Given the description of an element on the screen output the (x, y) to click on. 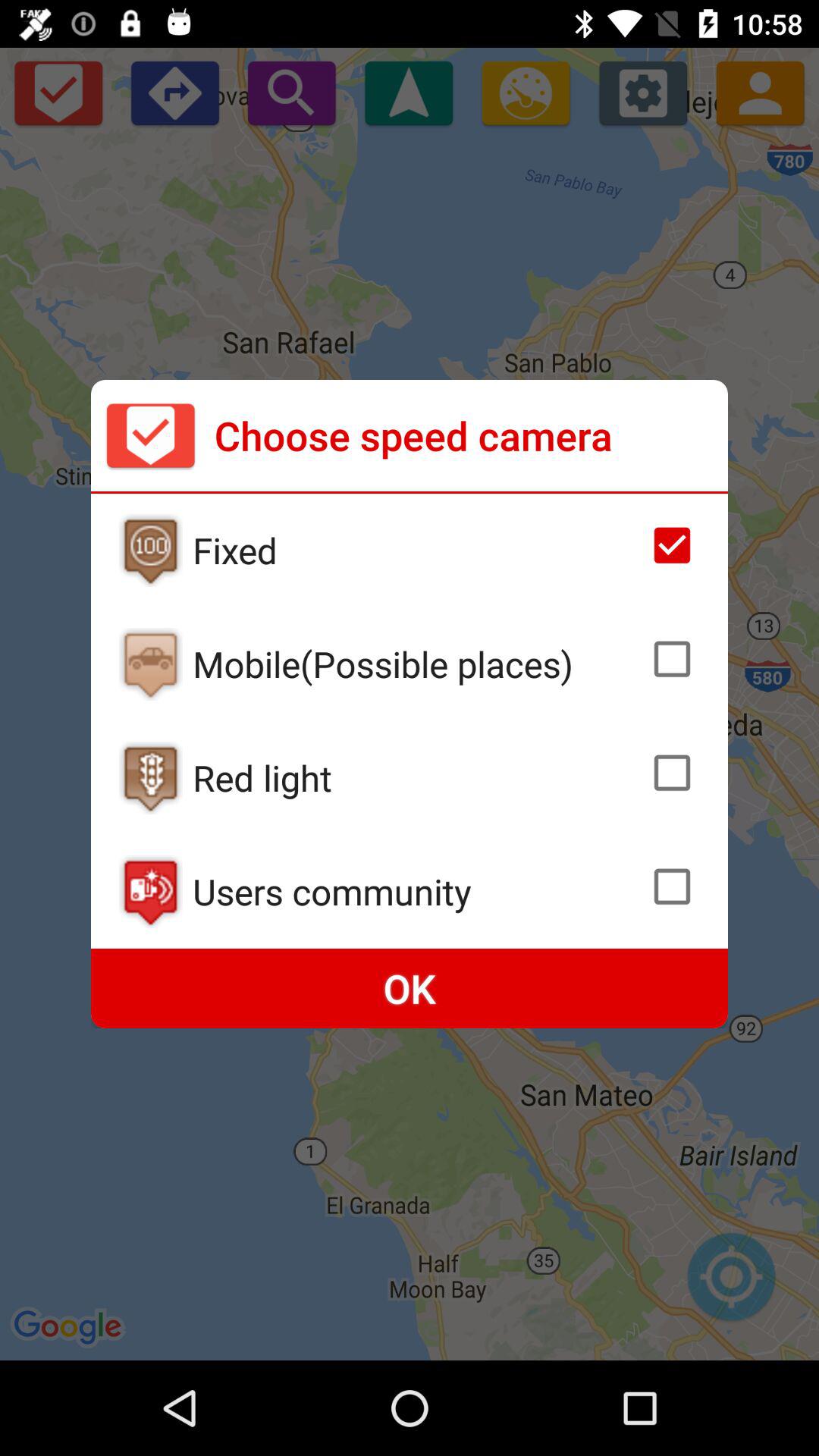
click to select camer speed (672, 886)
